Given the description of an element on the screen output the (x, y) to click on. 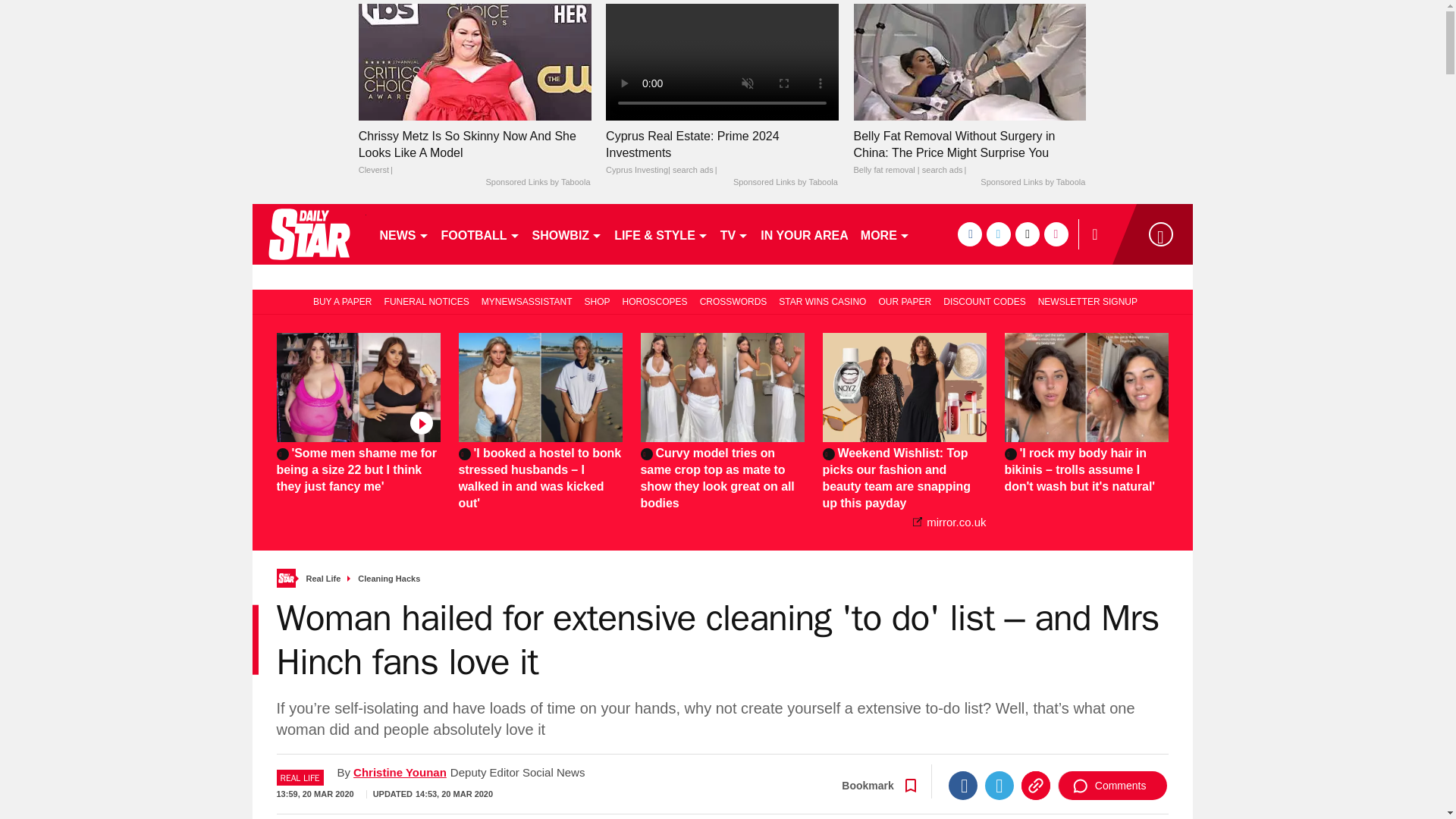
Chrissy Metz Is So Skinny Now And She Looks Like A Model (474, 152)
Sponsored Links by Taboola (1031, 182)
Cyprus Real Estate: Prime 2024 Investments (721, 61)
FOOTBALL (480, 233)
Chrissy Metz Is So Skinny Now And She Looks Like A Model (474, 61)
dailystar (308, 233)
NEWS (402, 233)
Sponsored Links by Taboola (785, 182)
Facebook (962, 785)
Twitter (999, 785)
instagram (1055, 233)
twitter (997, 233)
SHOWBIZ (566, 233)
